Given the description of an element on the screen output the (x, y) to click on. 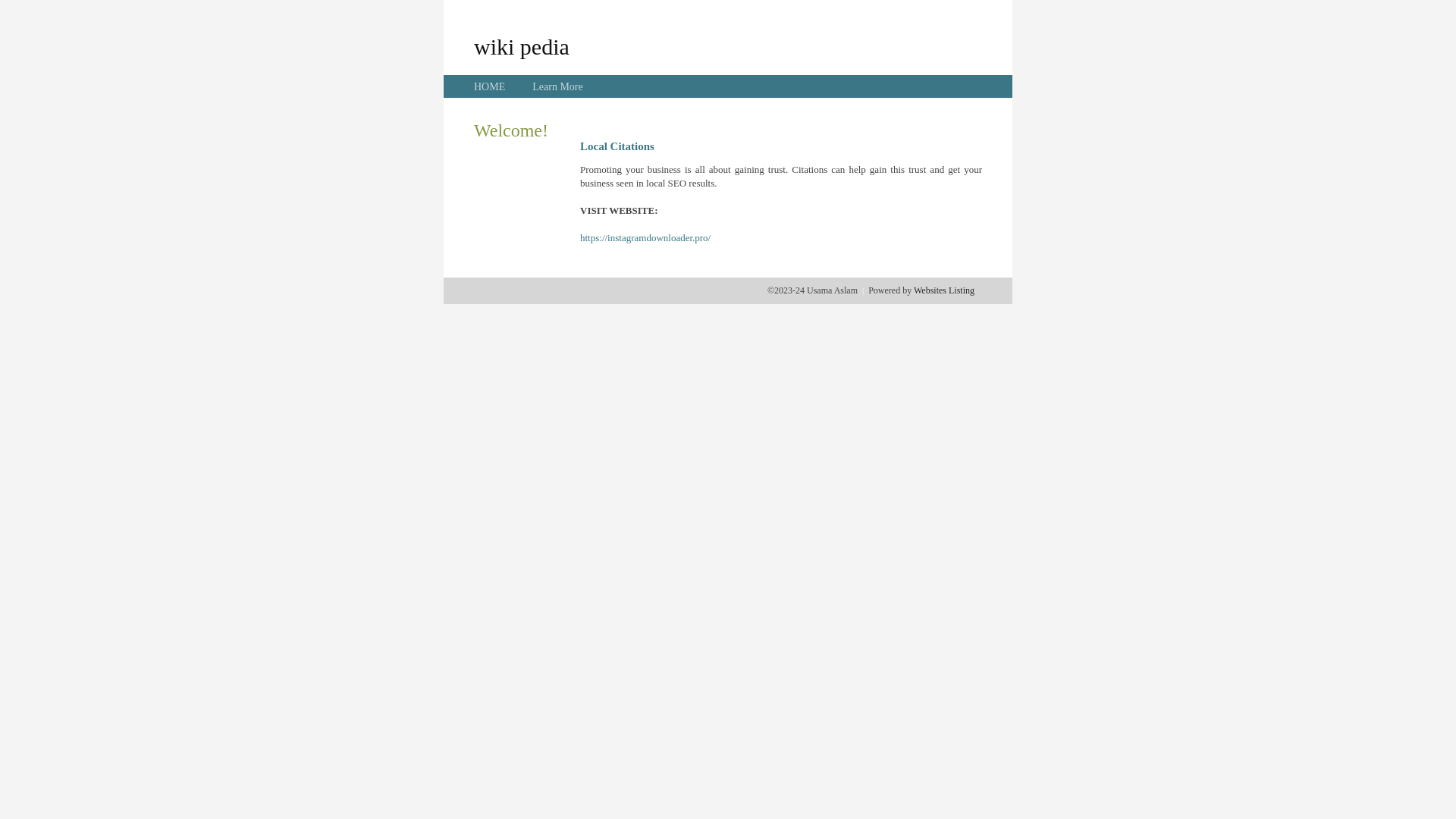
https://instagramdownloader.pro/ Element type: text (645, 237)
Websites Listing Element type: text (943, 290)
Learn More Element type: text (557, 86)
wiki pedia Element type: text (521, 46)
HOME Element type: text (489, 86)
